Given the description of an element on the screen output the (x, y) to click on. 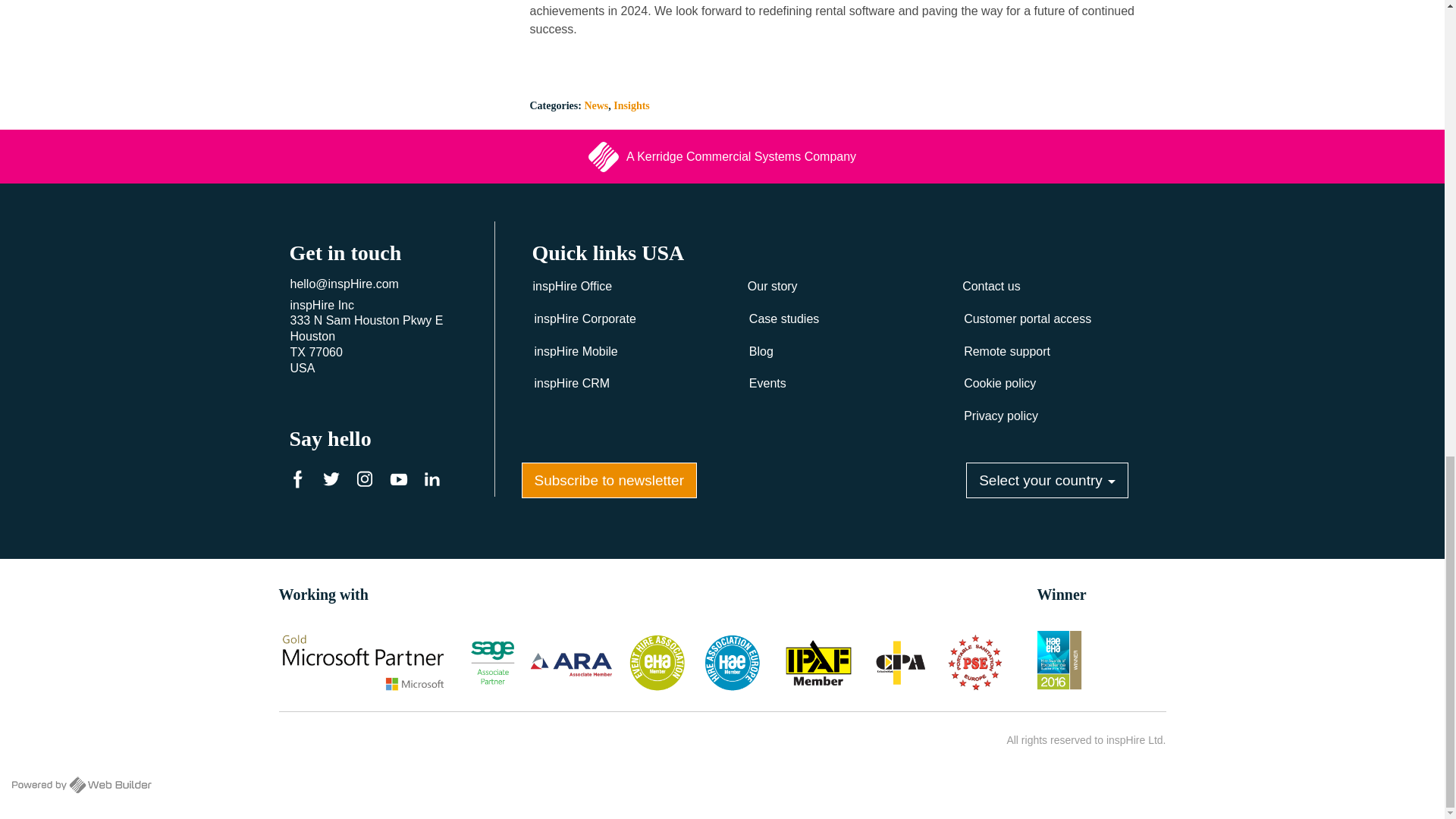
Like Our Facebook Page (301, 481)
Follow Us on Twitter (335, 481)
Follow Us on Instagram (368, 481)
News (595, 105)
A Kerridge Commercial Systems Company (722, 156)
Follow Us on Linkedin (435, 481)
Insights (630, 105)
Watch Our Youtube Videos (402, 481)
